Given the description of an element on the screen output the (x, y) to click on. 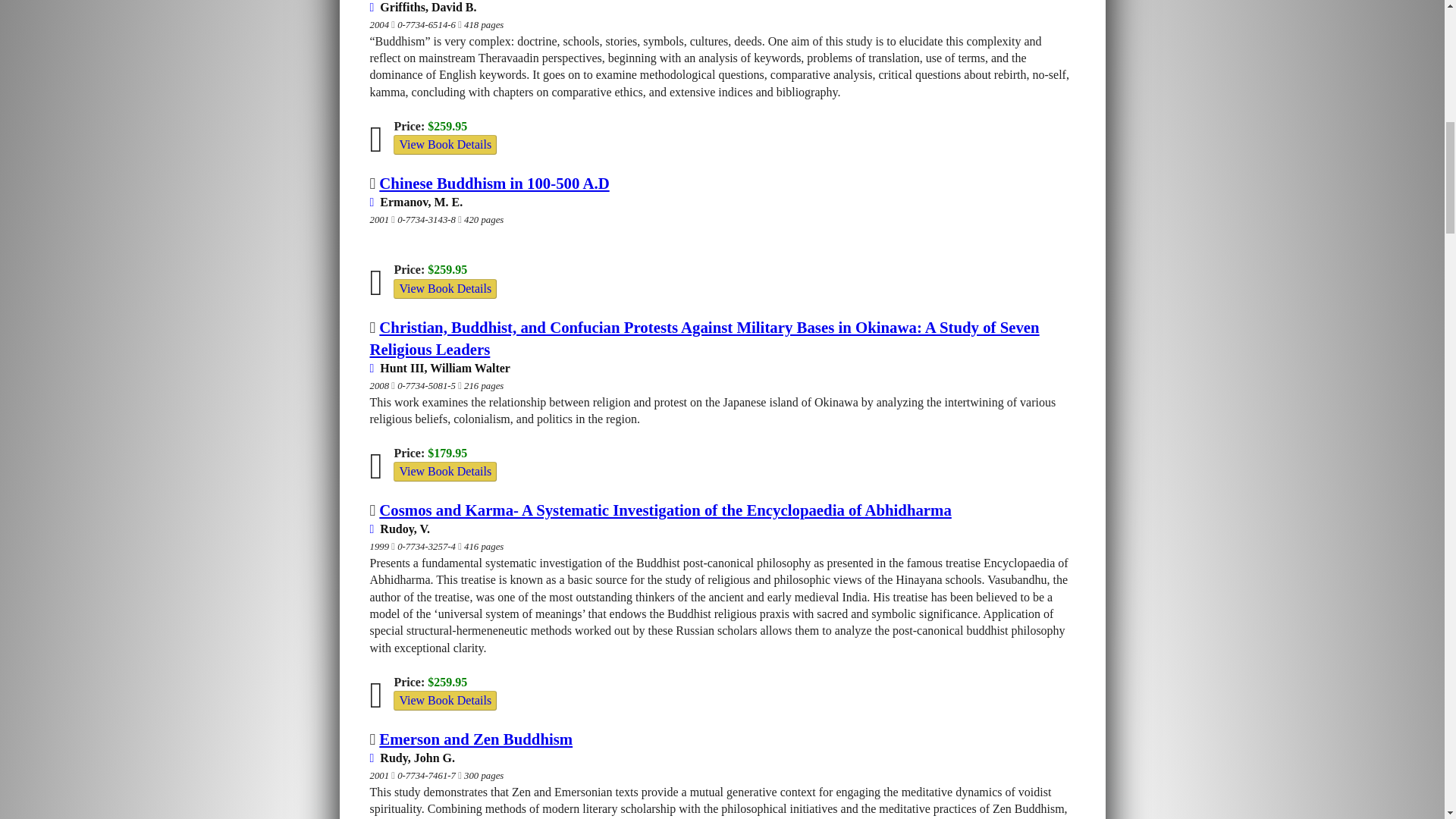
Emerson and Zen Buddhism (475, 738)
View Book Details (444, 471)
View Book Details (444, 700)
 Rudy, John G. (412, 757)
 Ermanov, M. E. (416, 201)
View Book Details (444, 471)
 Griffiths, David B. (423, 6)
 Rudoy, V. (399, 528)
